Given the description of an element on the screen output the (x, y) to click on. 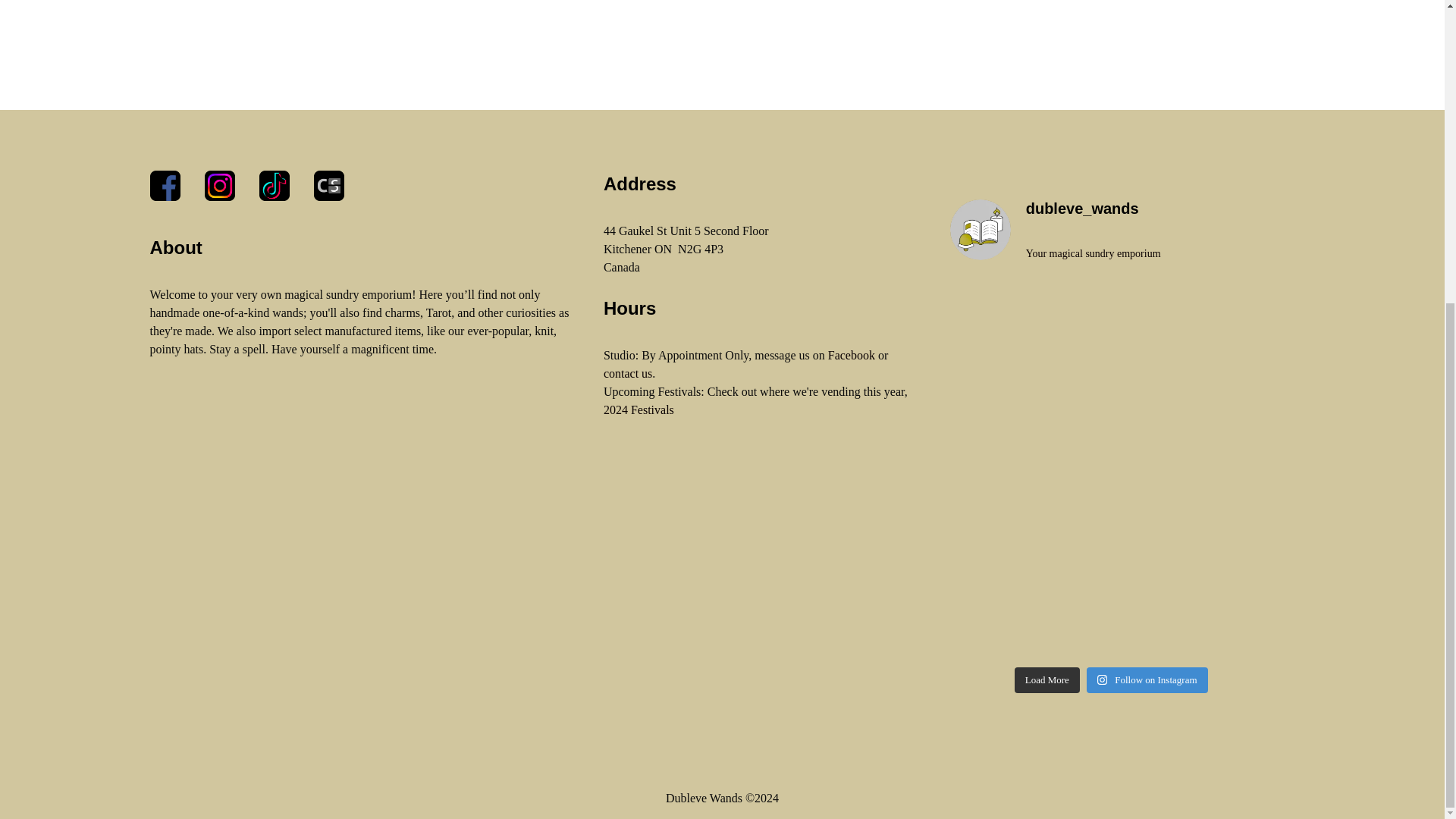
contact us (628, 373)
Follow on Instagram (1147, 679)
Facebook (851, 354)
2024 Festivals (639, 409)
Load More (1047, 679)
